Given the description of an element on the screen output the (x, y) to click on. 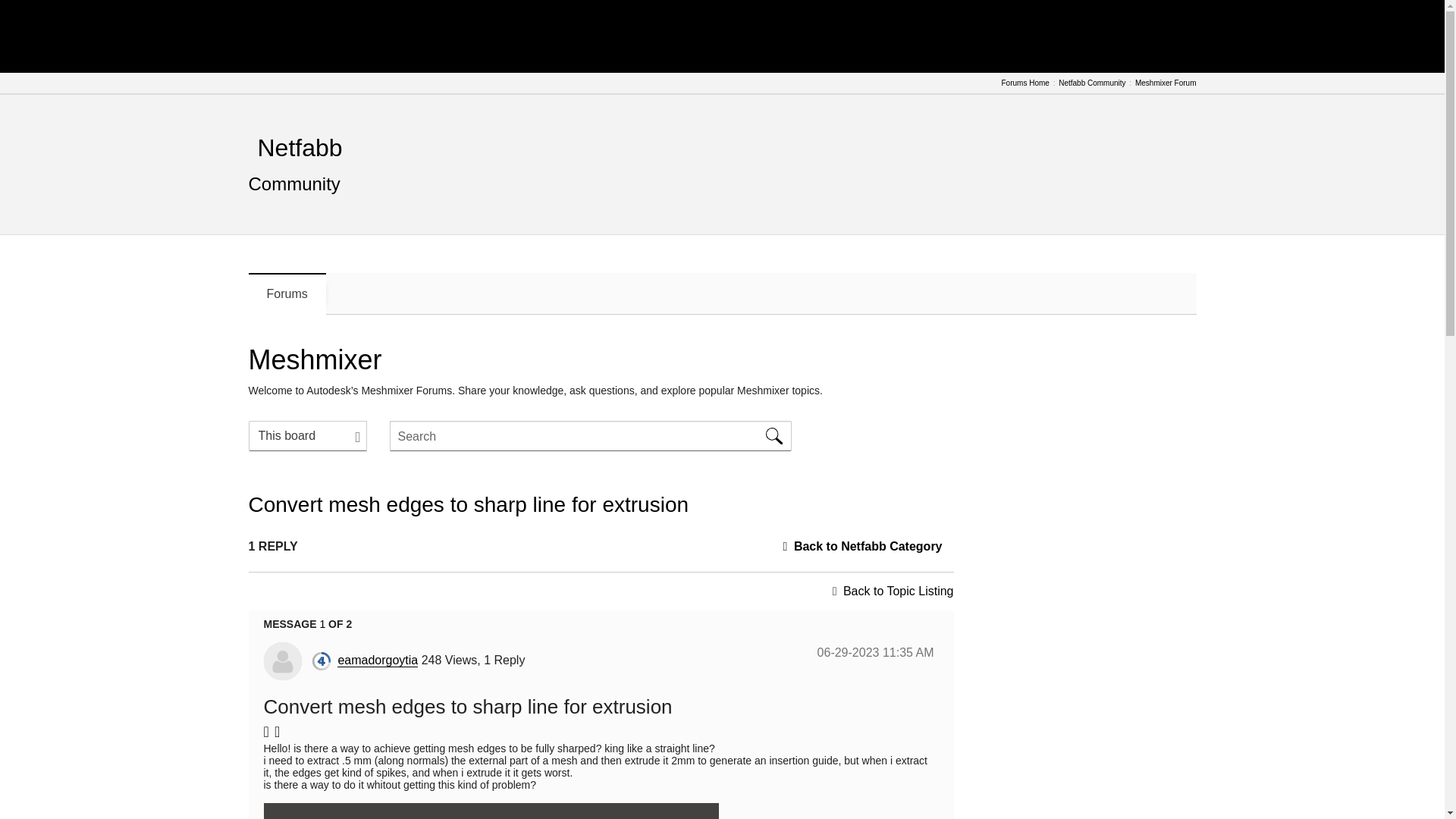
Forums (287, 293)
eamadorgoytia (377, 660)
Search (591, 435)
Back to Netfabb Category (867, 545)
Explorer (321, 660)
Search (774, 435)
eamadorgoytia (282, 661)
Netfabb (299, 147)
Forums Home (1024, 82)
Search Granularity (307, 435)
